Given the description of an element on the screen output the (x, y) to click on. 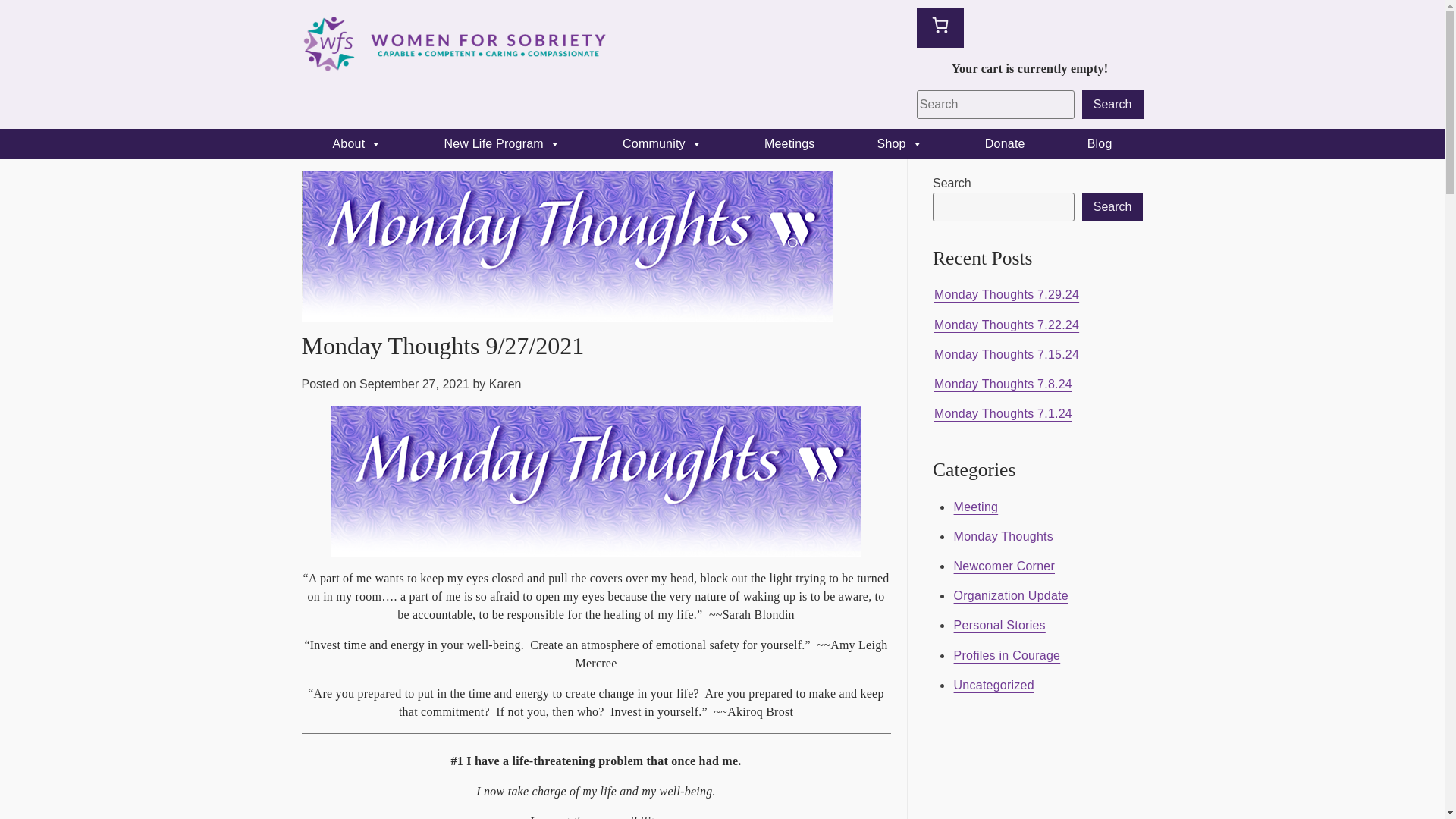
Monday Thoughts 7.8.24 (1003, 383)
Blog (1099, 143)
Monday Thoughts 7.22.24 (1006, 324)
Community (662, 143)
Monday Thoughts 7.15.24 (1006, 354)
Monday Thoughts 7.29.24 (1006, 294)
Donate (1004, 143)
Meetings (789, 143)
Search (1111, 104)
Monday Thoughts 7.1.24 (1003, 414)
